Given the description of an element on the screen output the (x, y) to click on. 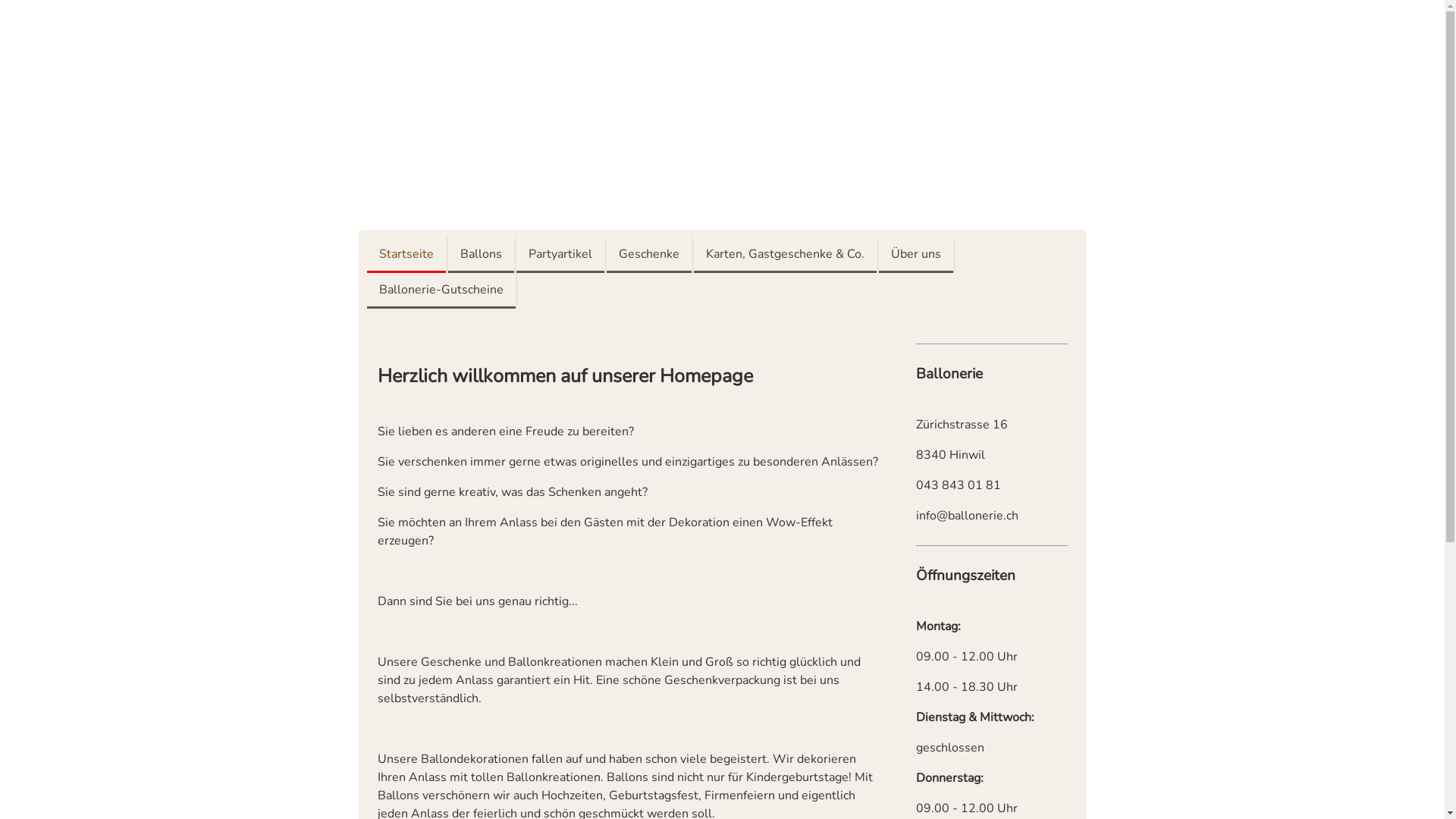
Ballonerie-Gutscheine Element type: text (441, 290)
Ballons Element type: text (480, 255)
Geschenke Element type: text (648, 255)
Karten, Gastgeschenke & Co. Element type: text (784, 255)
Partyartikel Element type: text (559, 255)
Startseite Element type: text (406, 255)
